Given the description of an element on the screen output the (x, y) to click on. 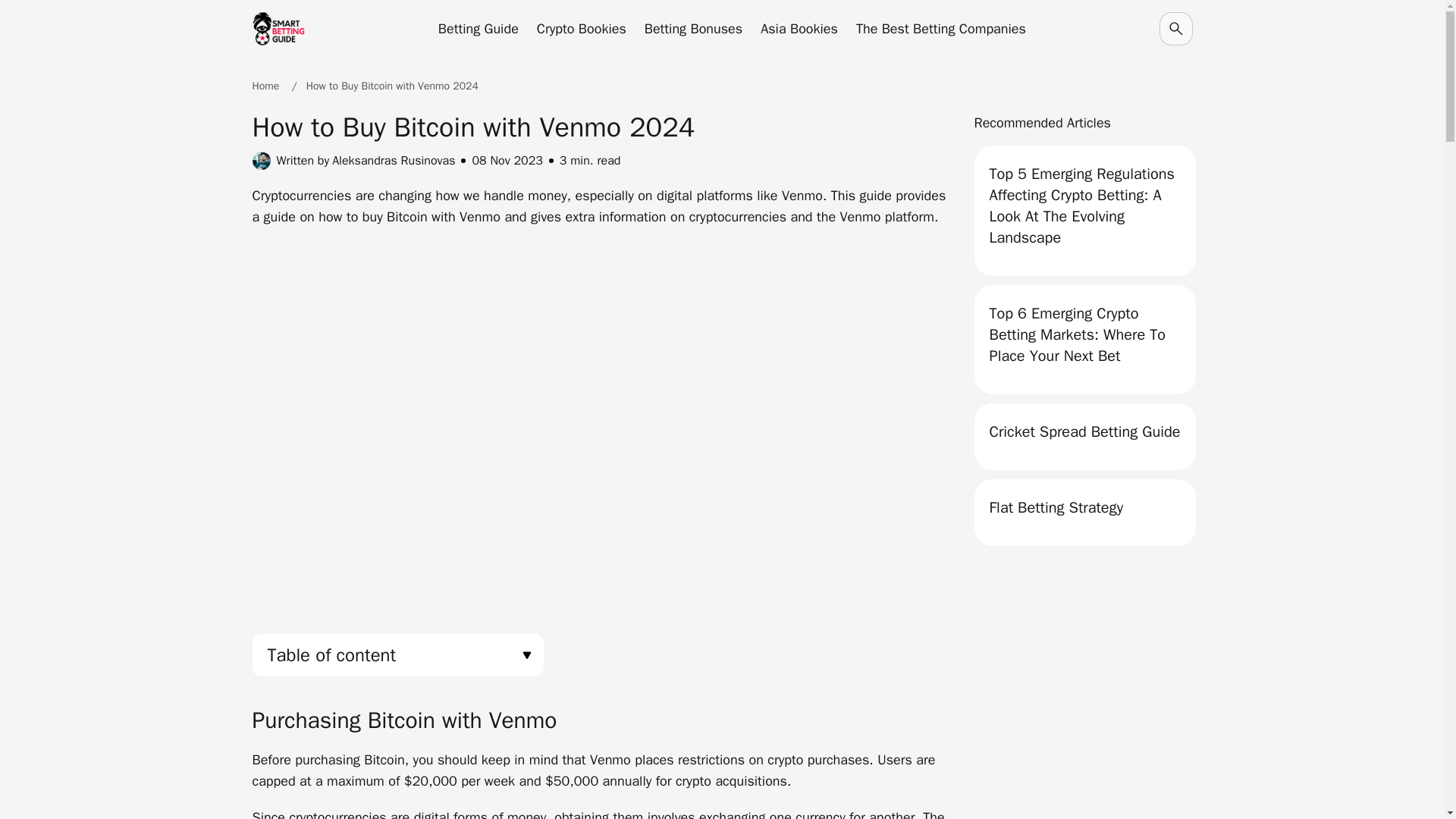
Crypto Bookies (581, 28)
Betting Bonuses (693, 28)
Betting Guide (478, 28)
Asia Bookies (799, 28)
The Best Betting Companies (941, 28)
